Given the description of an element on the screen output the (x, y) to click on. 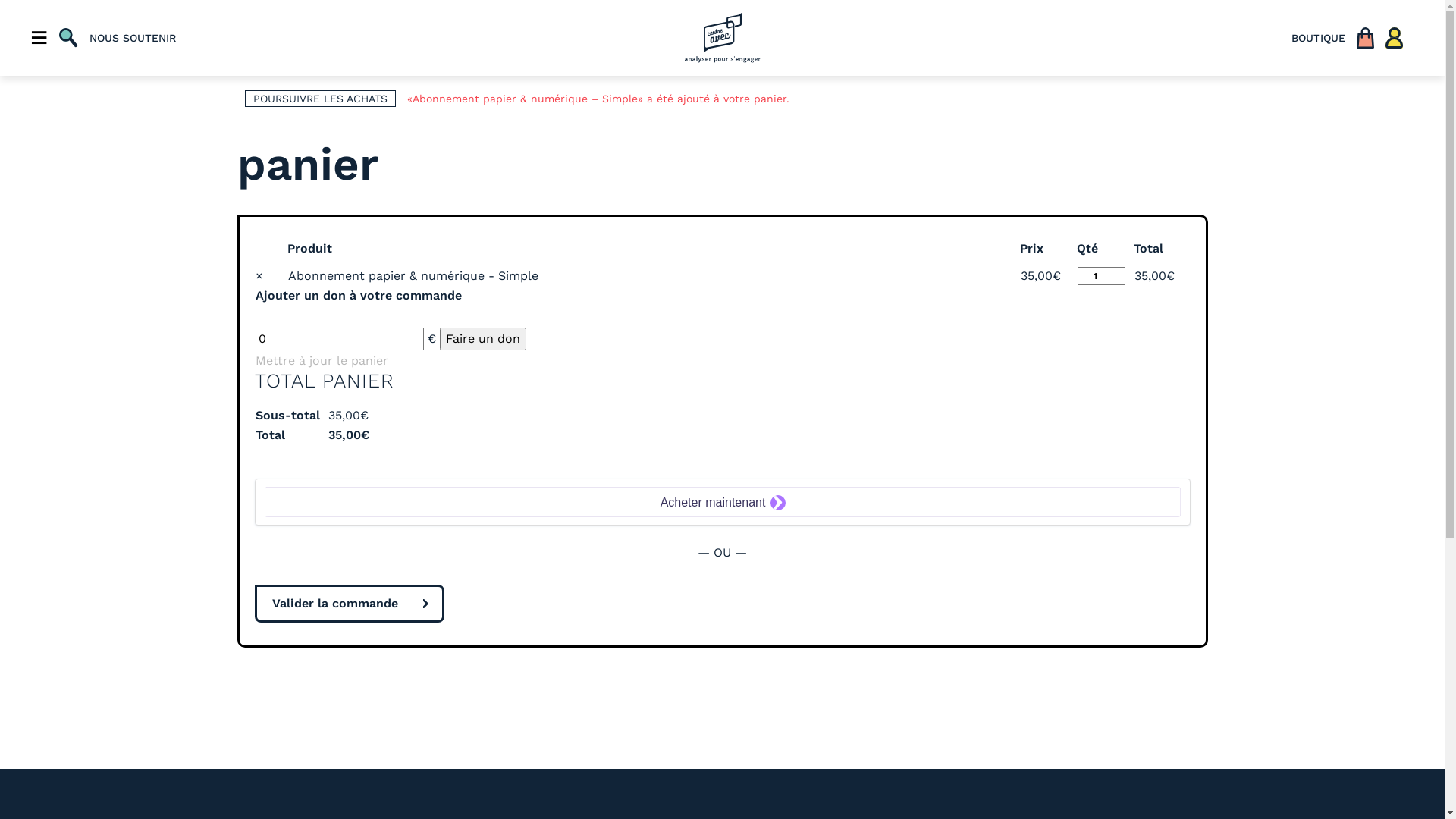
Valider la commande Element type: text (349, 603)
BOUTIQUE Element type: text (1318, 38)
POURSUIVRE LES ACHATS Element type: text (319, 98)
Faire un don Element type: text (482, 338)
NOUS SOUTENIR Element type: text (132, 38)
